Given the description of an element on the screen output the (x, y) to click on. 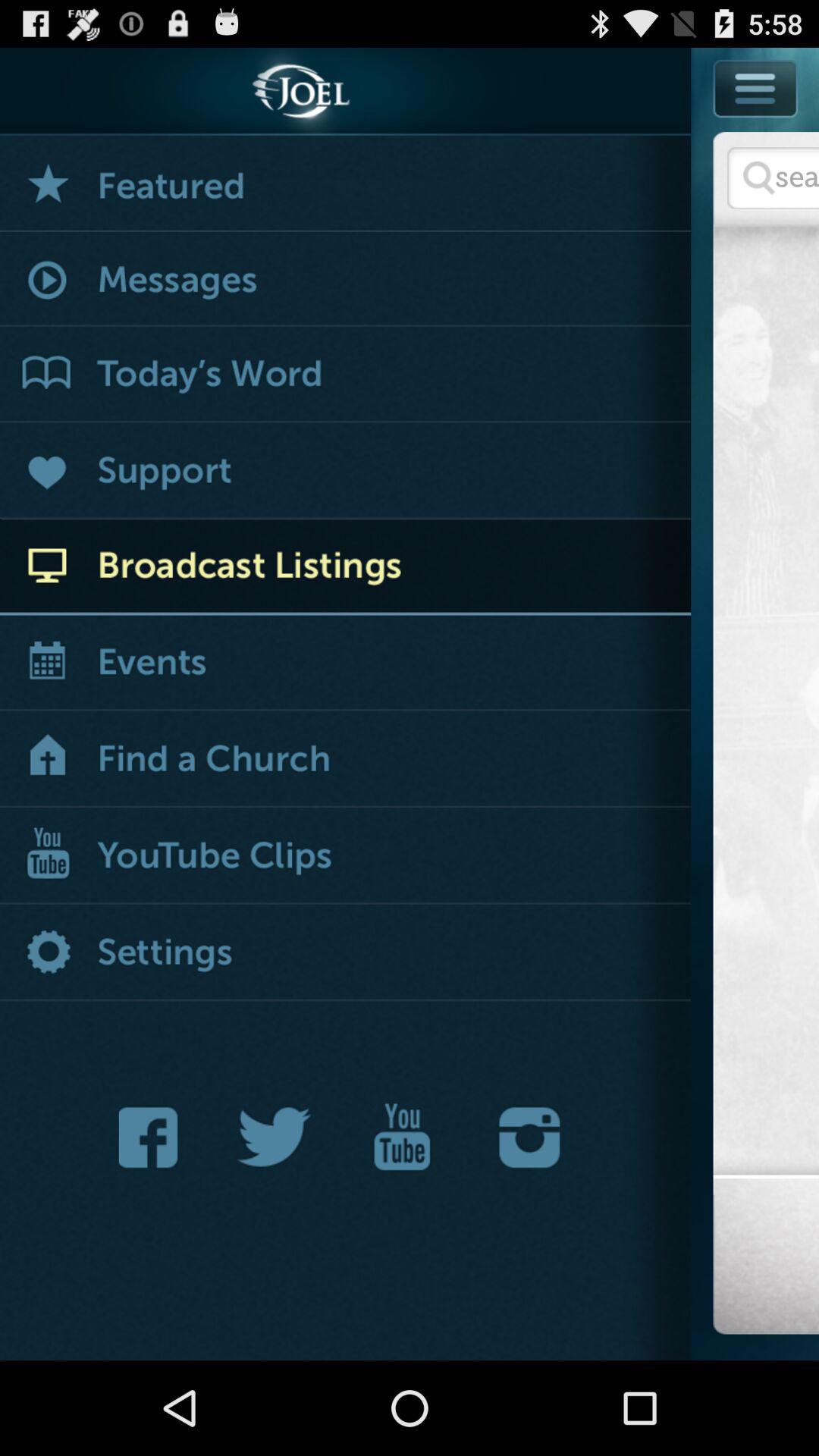
featured events and items (345, 183)
